Given the description of an element on the screen output the (x, y) to click on. 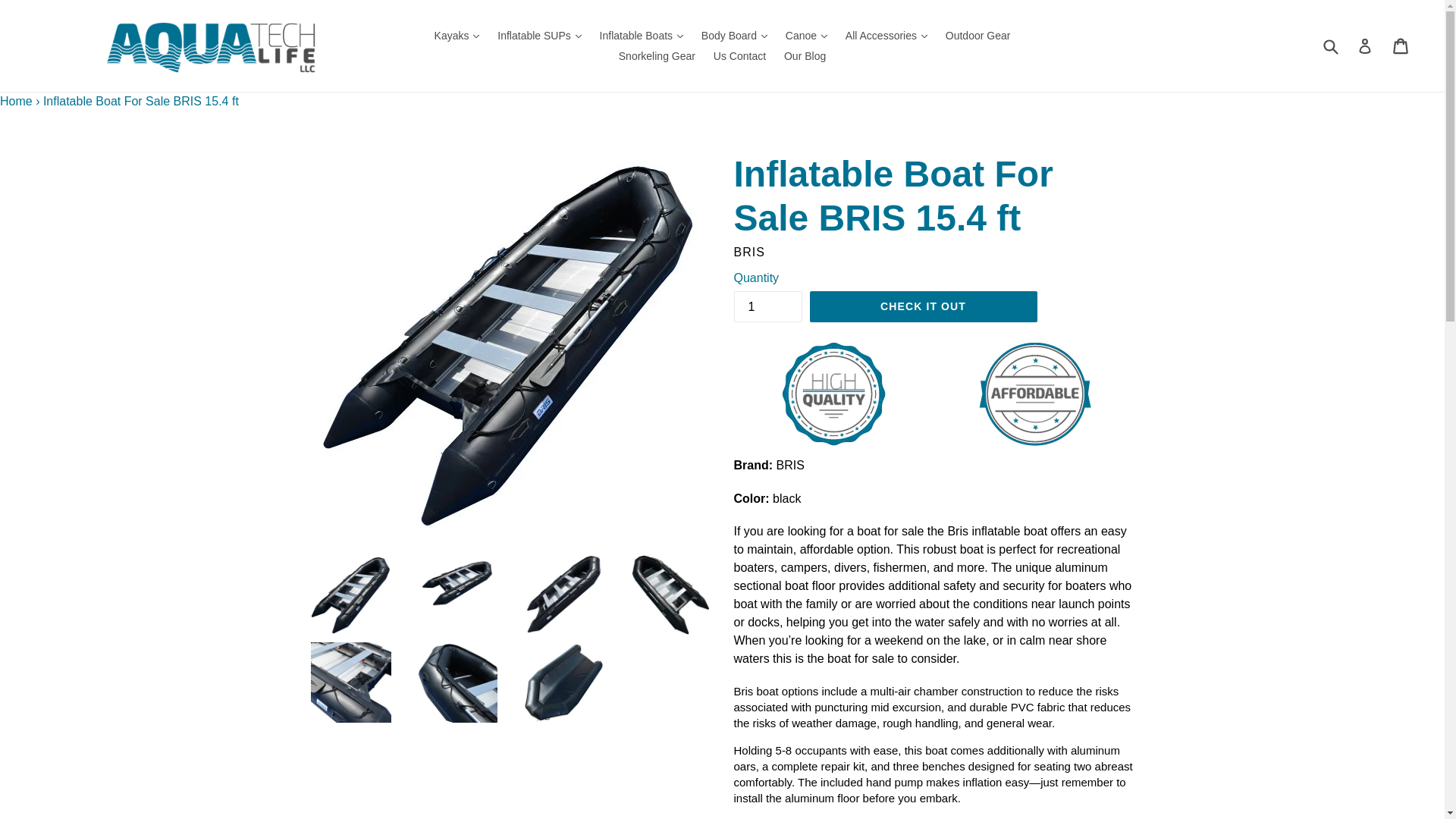
1 (767, 306)
Home (16, 101)
